Given the description of an element on the screen output the (x, y) to click on. 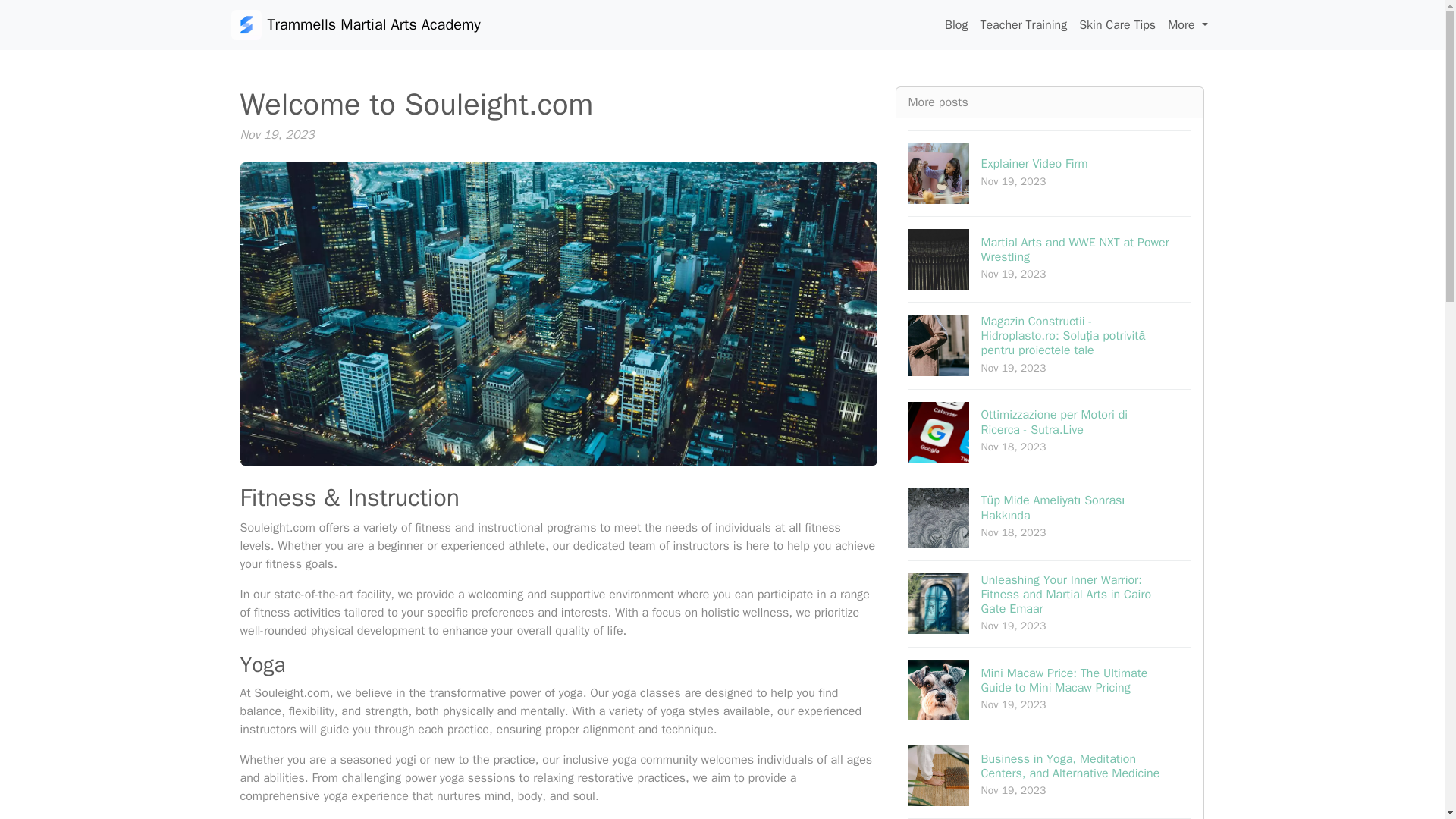
Teacher Training (1023, 24)
Blog (956, 24)
Trammells Martial Arts Academy (355, 24)
More (1186, 24)
Skin Care Tips (1050, 173)
